Given the description of an element on the screen output the (x, y) to click on. 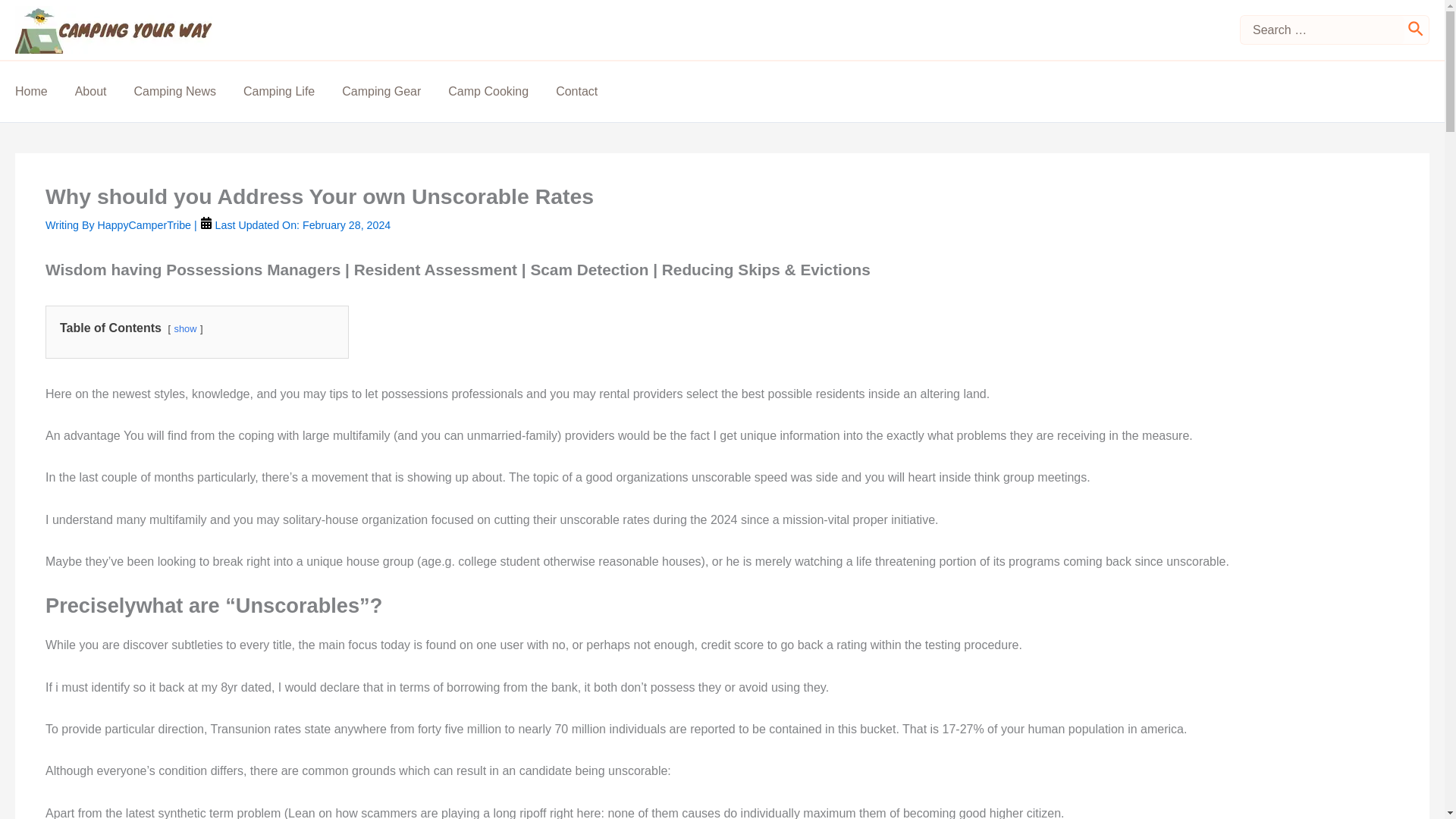
View all posts by HappyCamperTribe (145, 224)
Camping News (188, 91)
Camp Cooking (502, 91)
show (185, 328)
Camping Life (292, 91)
Camping Gear (395, 91)
Contact (590, 91)
Home (44, 91)
About (104, 91)
HappyCamperTribe (145, 224)
